Given the description of an element on the screen output the (x, y) to click on. 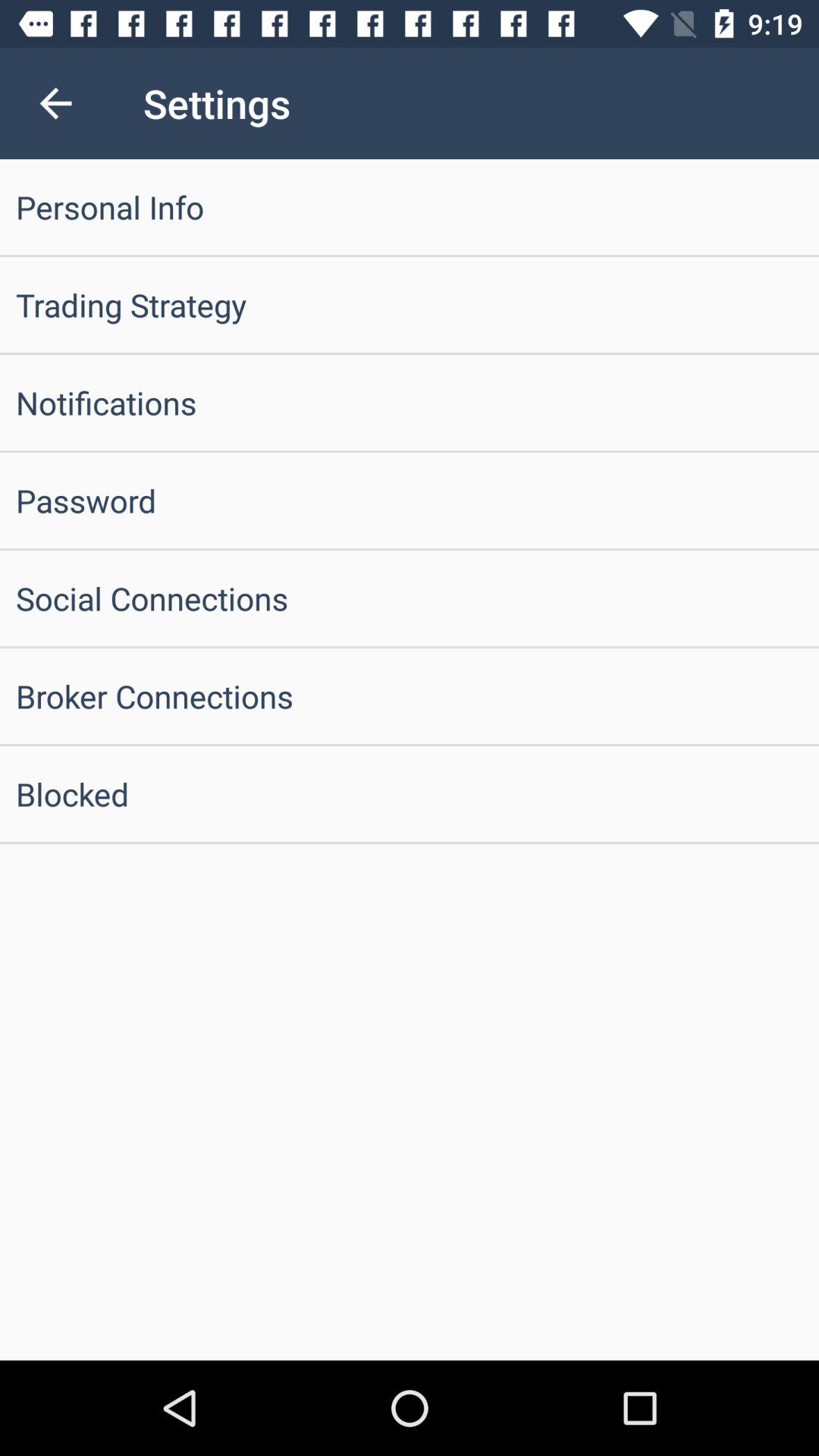
press broker connections (409, 695)
